Given the description of an element on the screen output the (x, y) to click on. 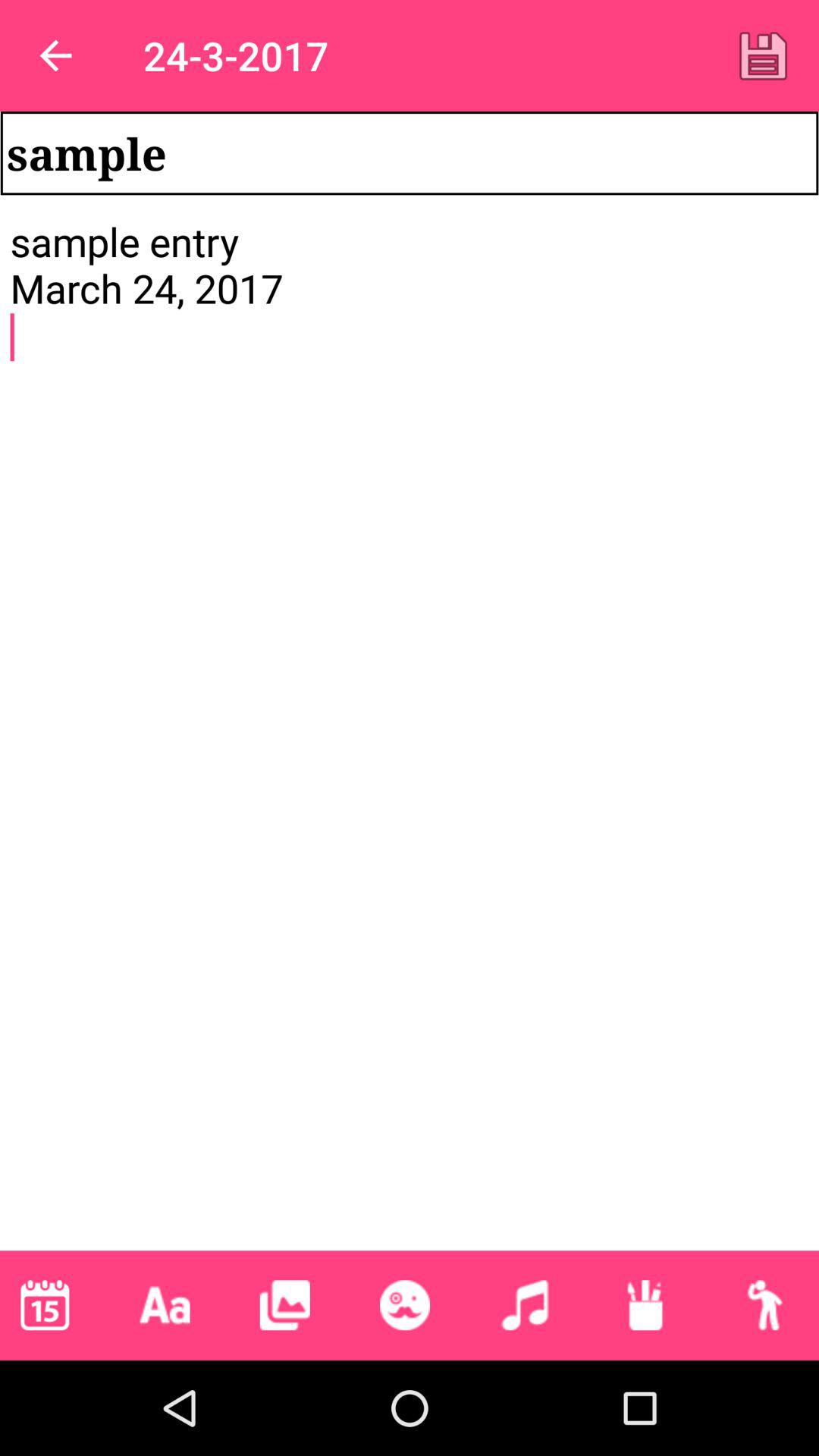
turn off the icon to the right of the 24-3-2017 (763, 55)
